Given the description of an element on the screen output the (x, y) to click on. 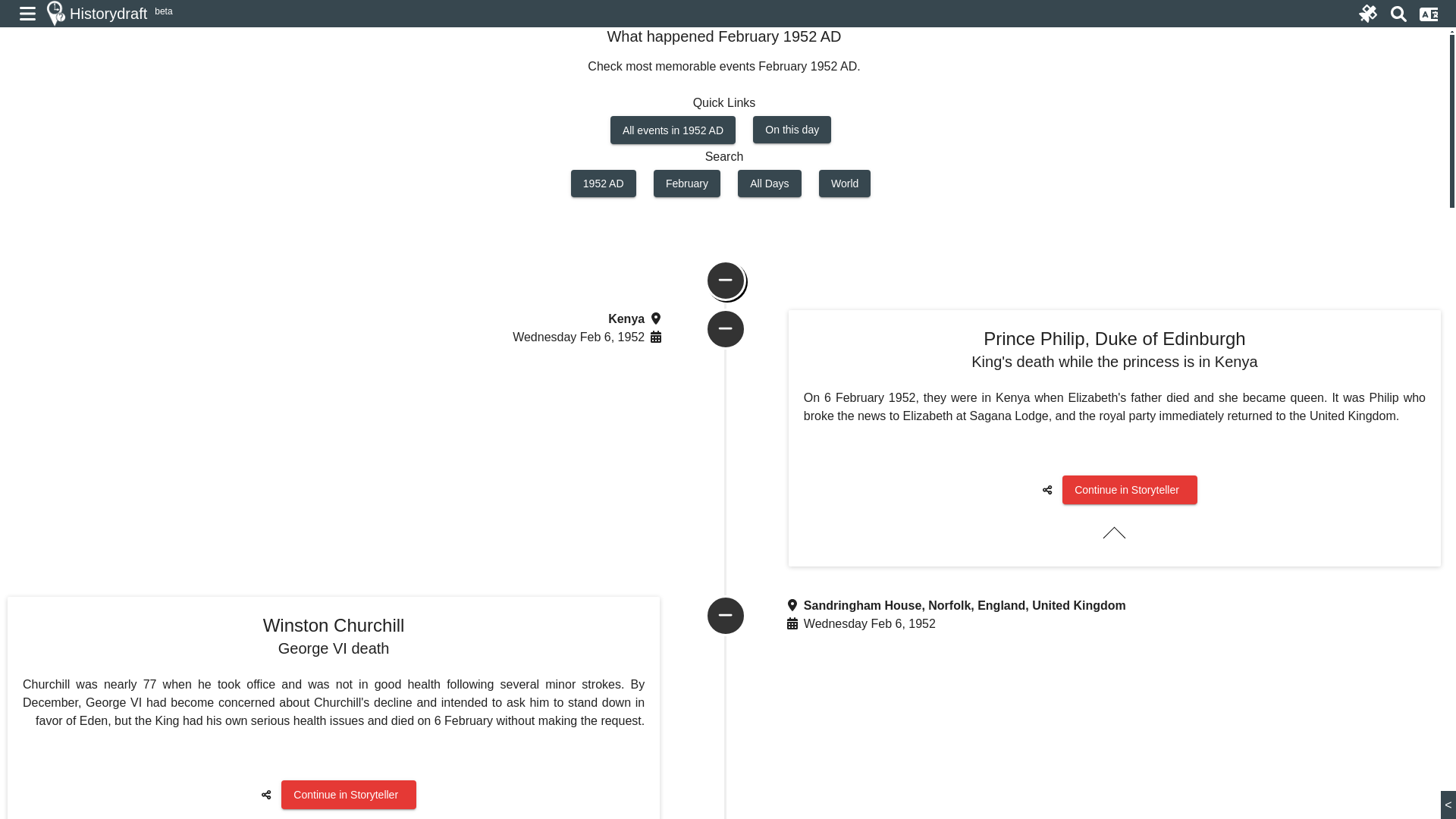
1952 AD (603, 183)
All events in 1952 AD (672, 130)
All Days (769, 183)
February (686, 183)
World (844, 183)
On this day (791, 129)
Continue in Storyteller   (348, 794)
Continue in Storyteller   (1129, 489)
